Given the description of an element on the screen output the (x, y) to click on. 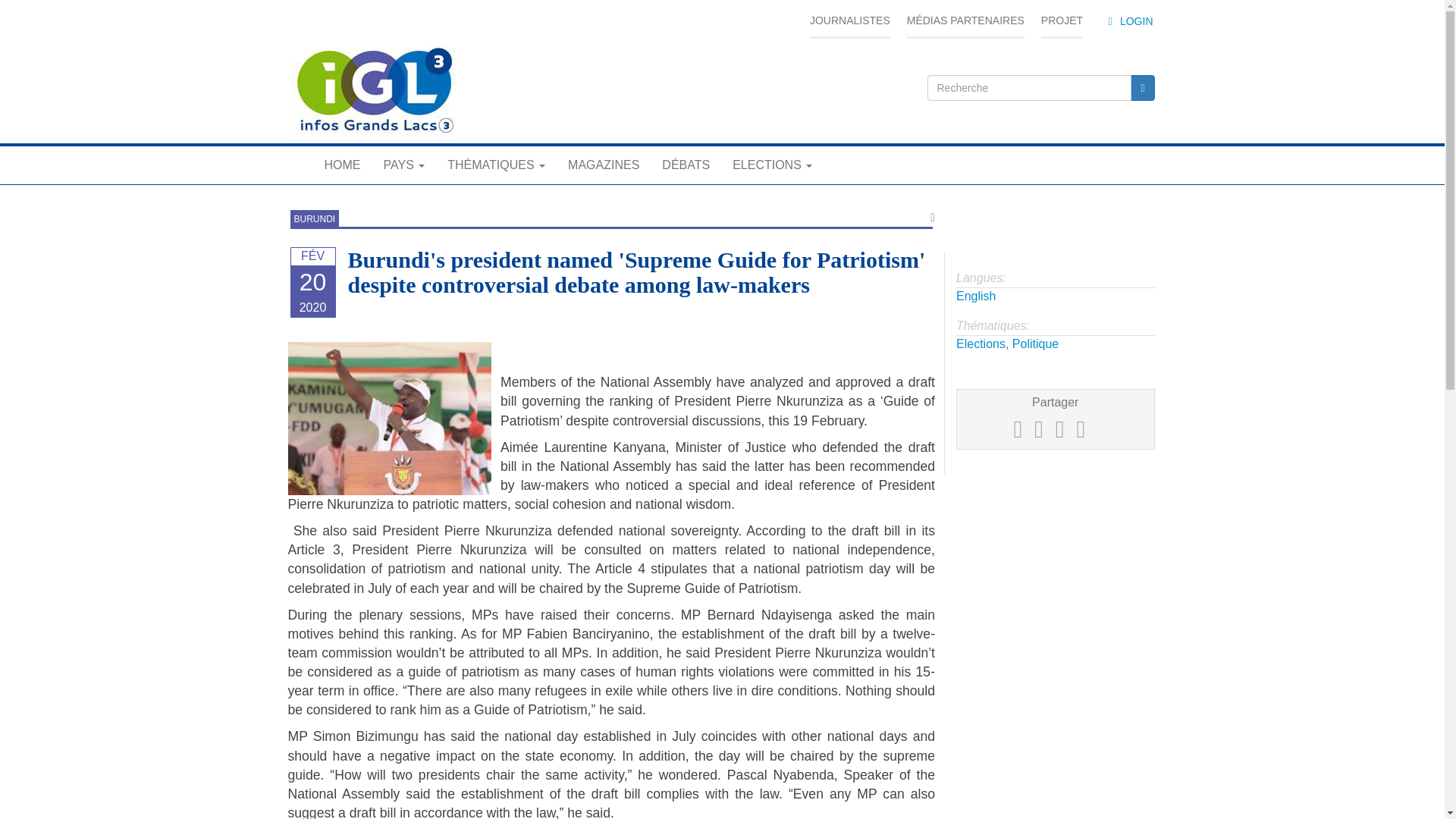
PROJET (1062, 21)
HOME (342, 165)
JOURNALISTES (849, 21)
Accueil (373, 91)
LOGIN (1128, 20)
PAYS (403, 165)
